Given the description of an element on the screen output the (x, y) to click on. 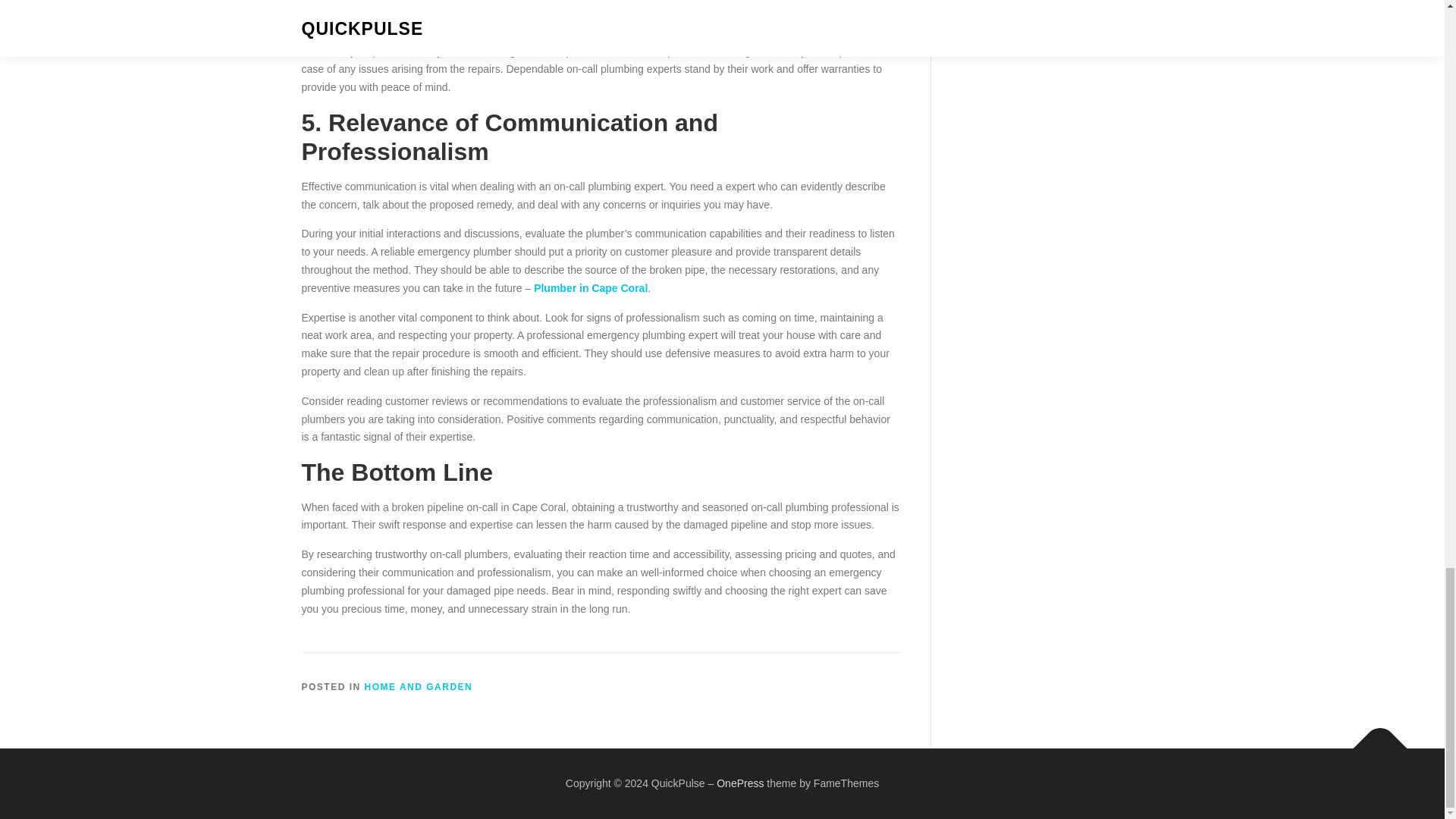
Plumber in Cape Coral (590, 287)
Back To Top (1372, 740)
HOME AND GARDEN (419, 686)
